Given the description of an element on the screen output the (x, y) to click on. 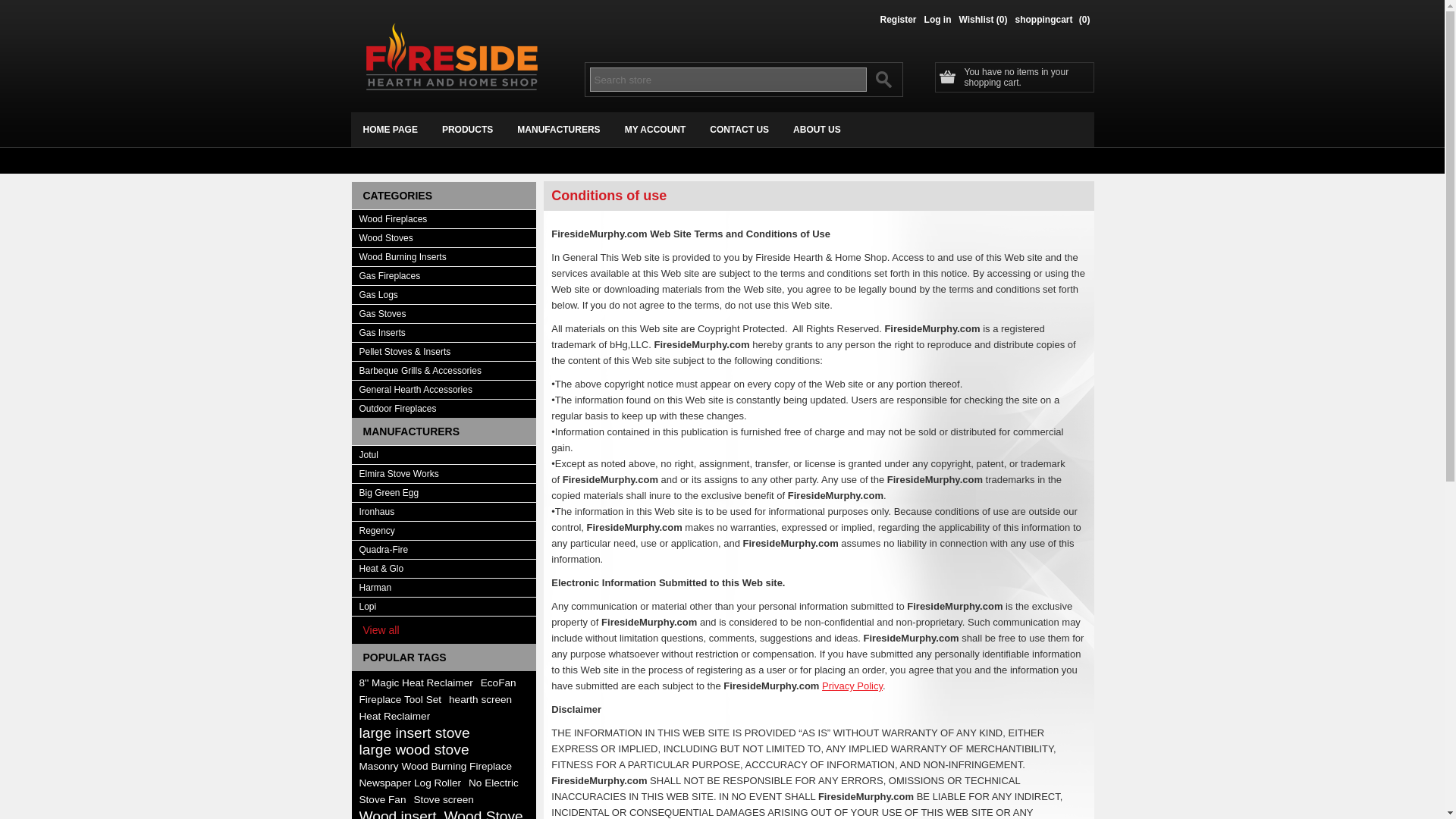
Search store (727, 79)
Search (882, 79)
Search (882, 79)
Home page (389, 129)
FiresideMurphy (451, 56)
Register (898, 23)
Search store (727, 79)
Search (882, 79)
HOME PAGE (389, 129)
